Given the description of an element on the screen output the (x, y) to click on. 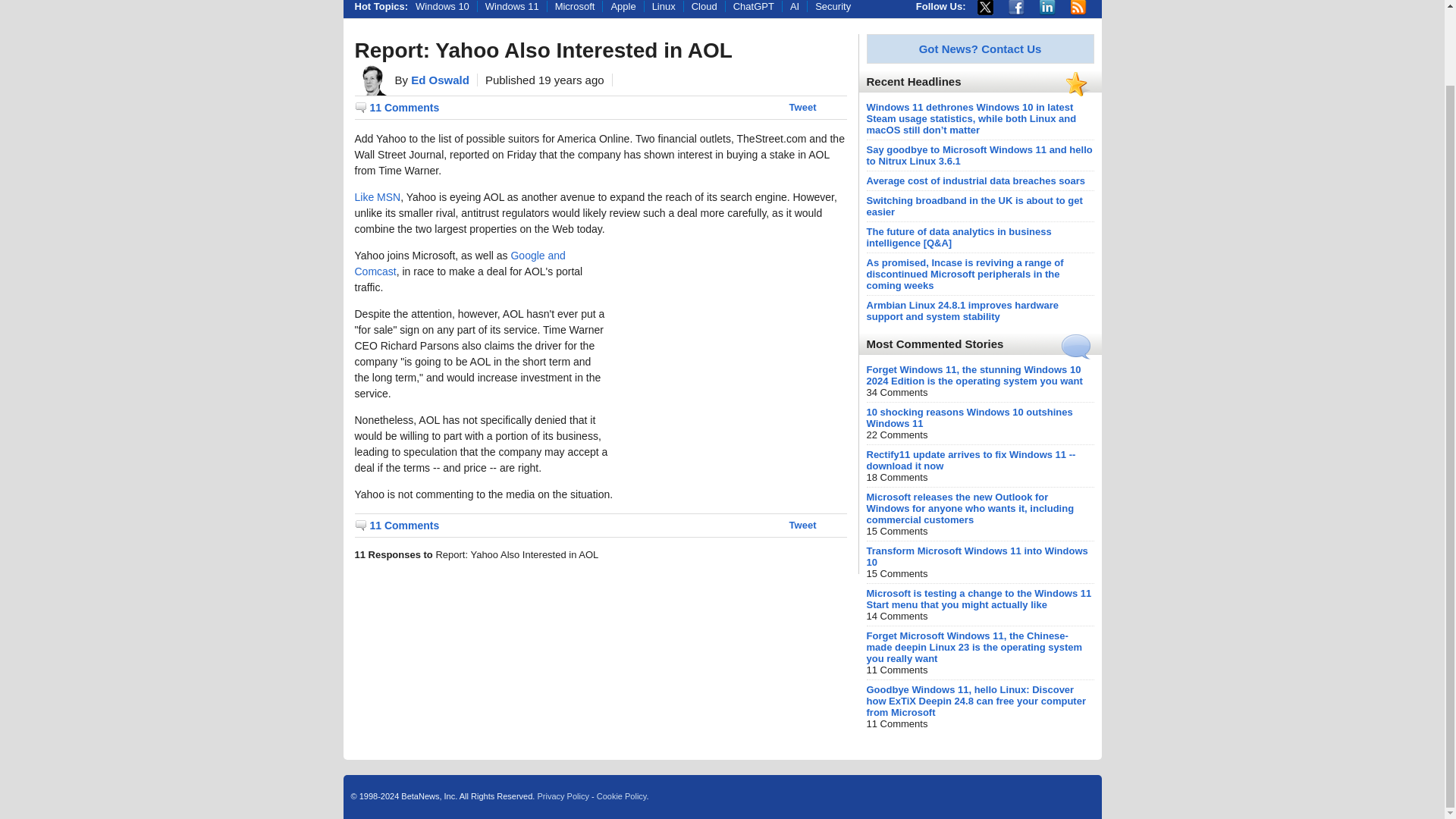
Tweet (802, 107)
Apple (622, 6)
Switching broadband in the UK is about to get easier (973, 205)
Security (832, 6)
Google and Comcast (460, 263)
ChatGPT (753, 6)
Transform Microsoft Windows 11 into Windows 10 (976, 556)
RSS (1078, 7)
Twitter (984, 7)
